Given the description of an element on the screen output the (x, y) to click on. 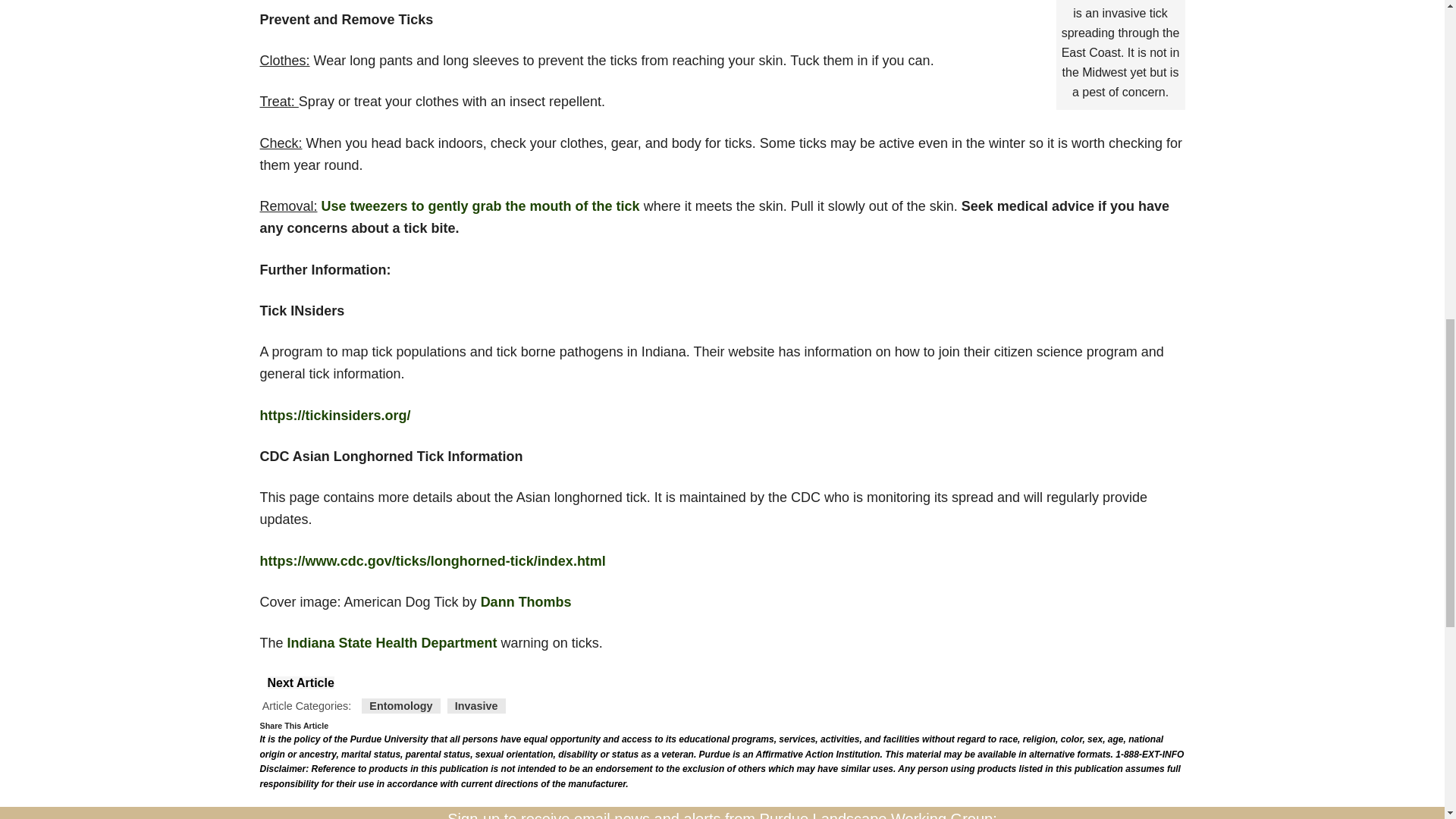
Dann Thombs (526, 601)
Use tweezers to gently grab the mouth of the tick (480, 206)
Entomology (400, 705)
Next Article (299, 682)
Indiana State Health Department (391, 642)
Invasive (475, 705)
